Given the description of an element on the screen output the (x, y) to click on. 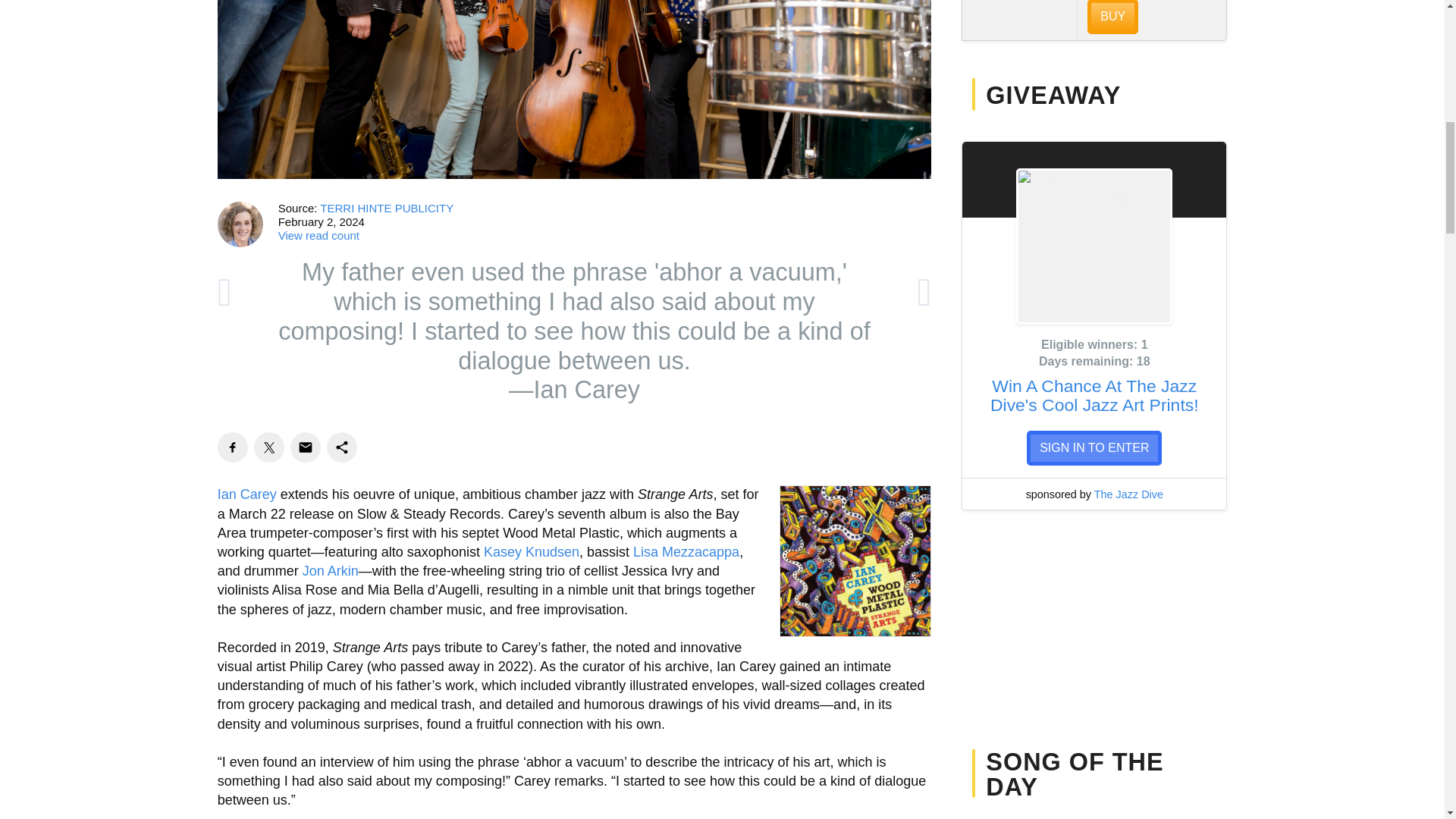
Ian Carey (246, 494)
Lisa Mezzacappa (686, 551)
View read count (318, 235)
Kasey Knudsen (531, 551)
TERRI HINTE PUBLICITY (386, 207)
Jon Arkin (330, 570)
